Given the description of an element on the screen output the (x, y) to click on. 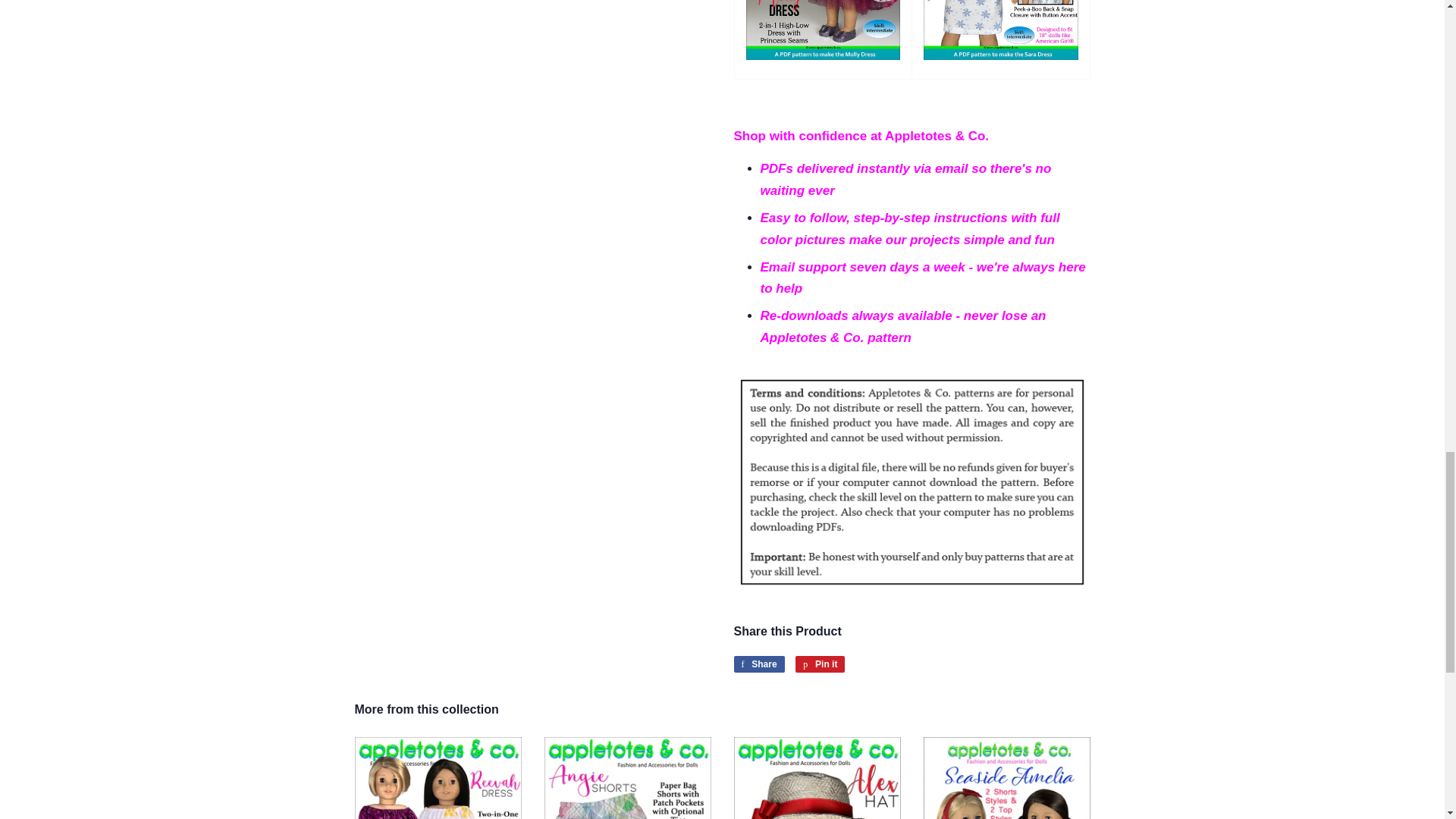
Pin on Pinterest (819, 664)
Share on Facebook (758, 664)
